Given the description of an element on the screen output the (x, y) to click on. 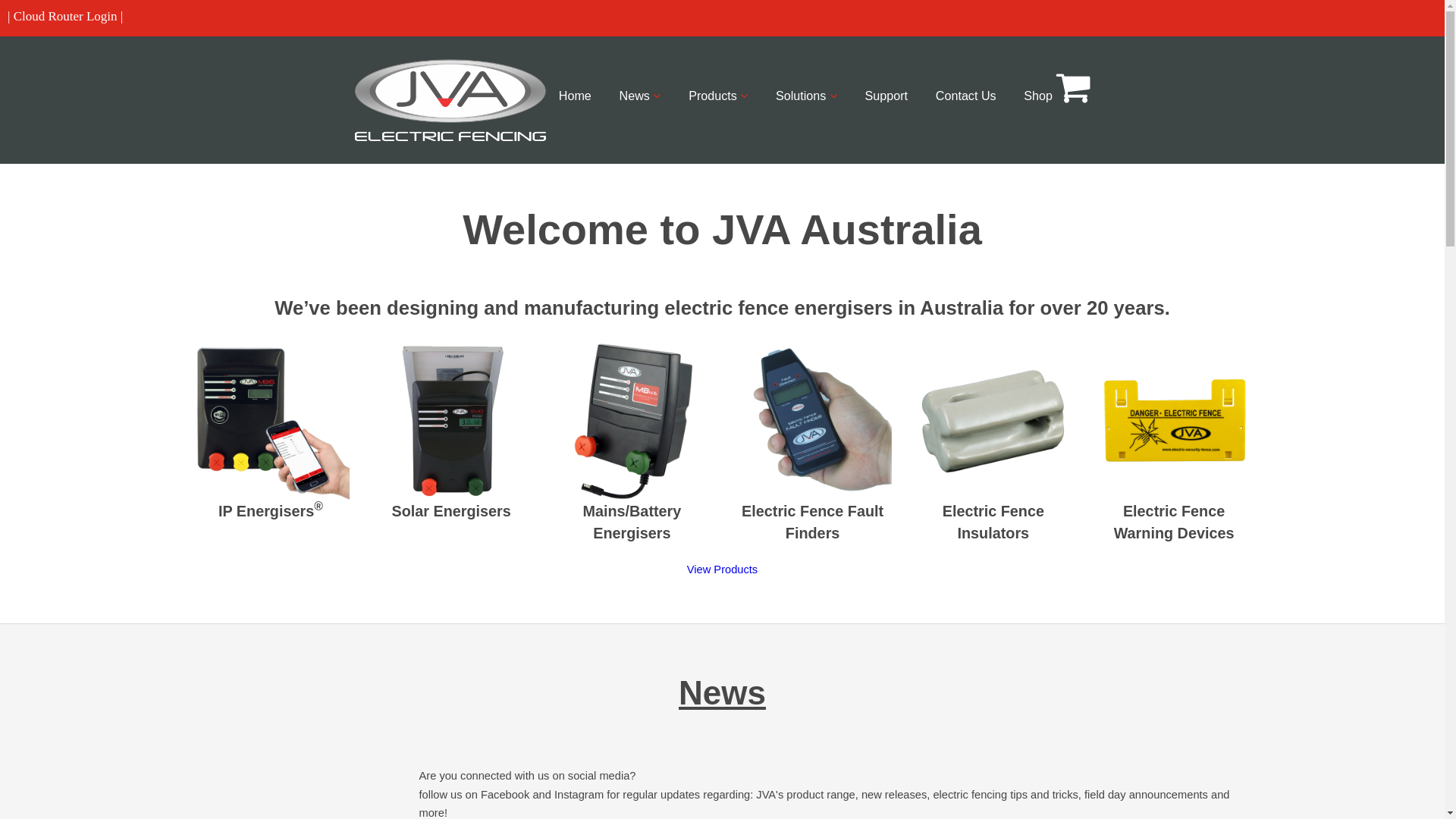
Mains/Battery Energisers Element type: text (631, 517)
Electric Fence Warning Devices Element type: text (1174, 517)
Electric Fence Fault Finders Element type: text (812, 517)
Contact Us Element type: text (965, 95)
Support Element type: text (886, 95)
Solar Energisers Element type: text (451, 506)
JVA Technologies leaders in Electric Fencing Element type: hover (450, 100)
| Cloud Router Login | Element type: text (64, 16)
JVA Technologies Mains Battery IP Energiser Element type: hover (451, 421)
Shop Element type: text (1056, 87)
News Element type: text (640, 95)
Electric Fence Insulators Element type: text (992, 517)
JVA Technologies Mains Battery IP Energiser Element type: hover (812, 421)
JVA Technologies Mains Battery IP Energiser Element type: hover (992, 421)
View Products Element type: text (722, 569)
JVA Technologies Mains Battery IP Energiser Element type: hover (1174, 421)
Home Element type: text (574, 95)
JVA Technologies Mains Battery IP Energiser Element type: hover (631, 421)
JVA Technologies Mains Battery IP Energiser Element type: hover (270, 421)
Products Element type: text (717, 95)
